Given the description of an element on the screen output the (x, y) to click on. 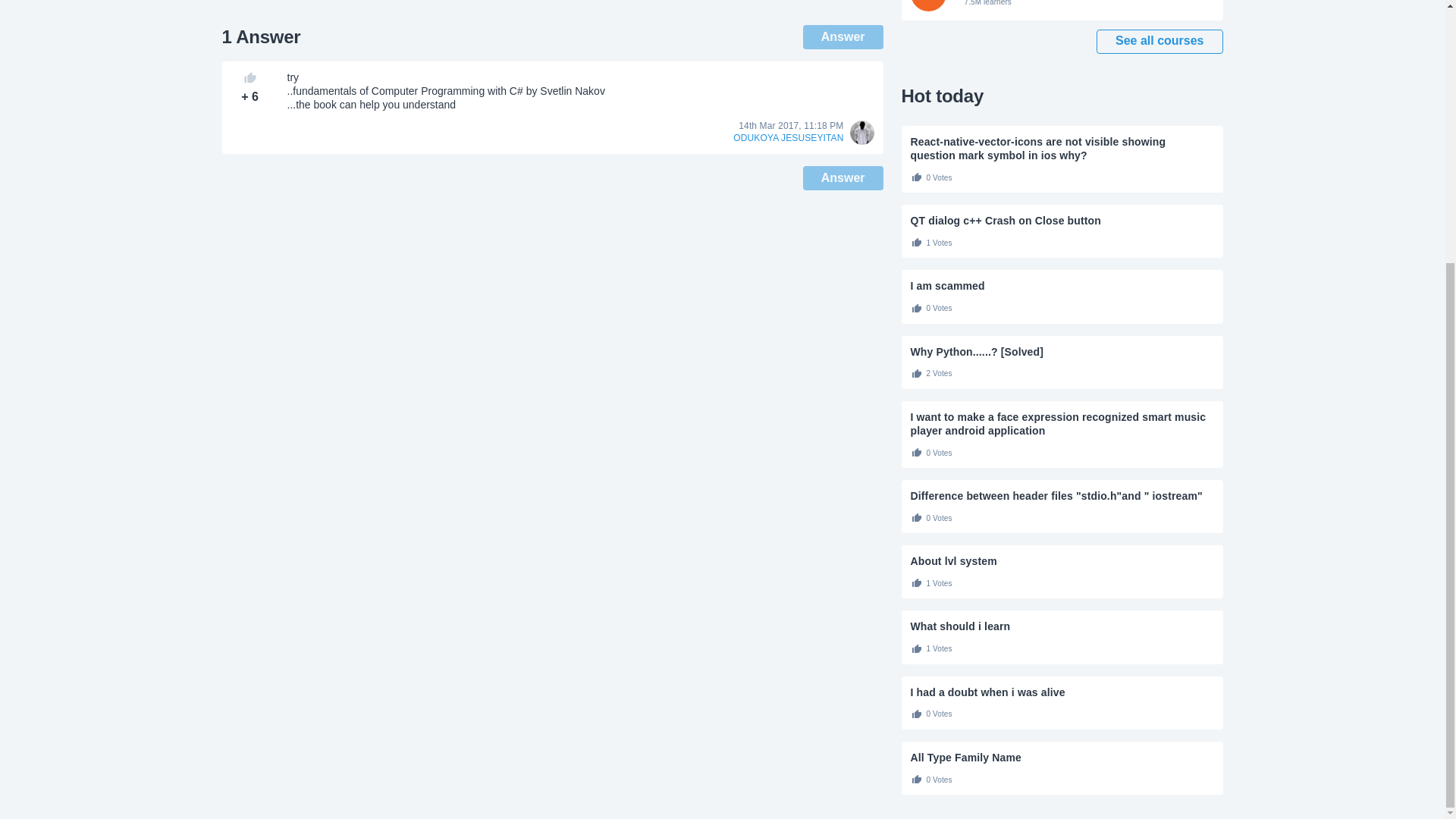
What should i learn (1061, 626)
Answer (843, 37)
About lvl system (1061, 561)
Answer (843, 178)
I am scammed (1061, 285)
Difference between header files "stdio.h"and " iostream" (1061, 495)
All Type Family Name (1061, 757)
I had a doubt when i was alive (1061, 692)
See all courses (1159, 41)
Introduction to HTML (1062, 10)
